Given the description of an element on the screen output the (x, y) to click on. 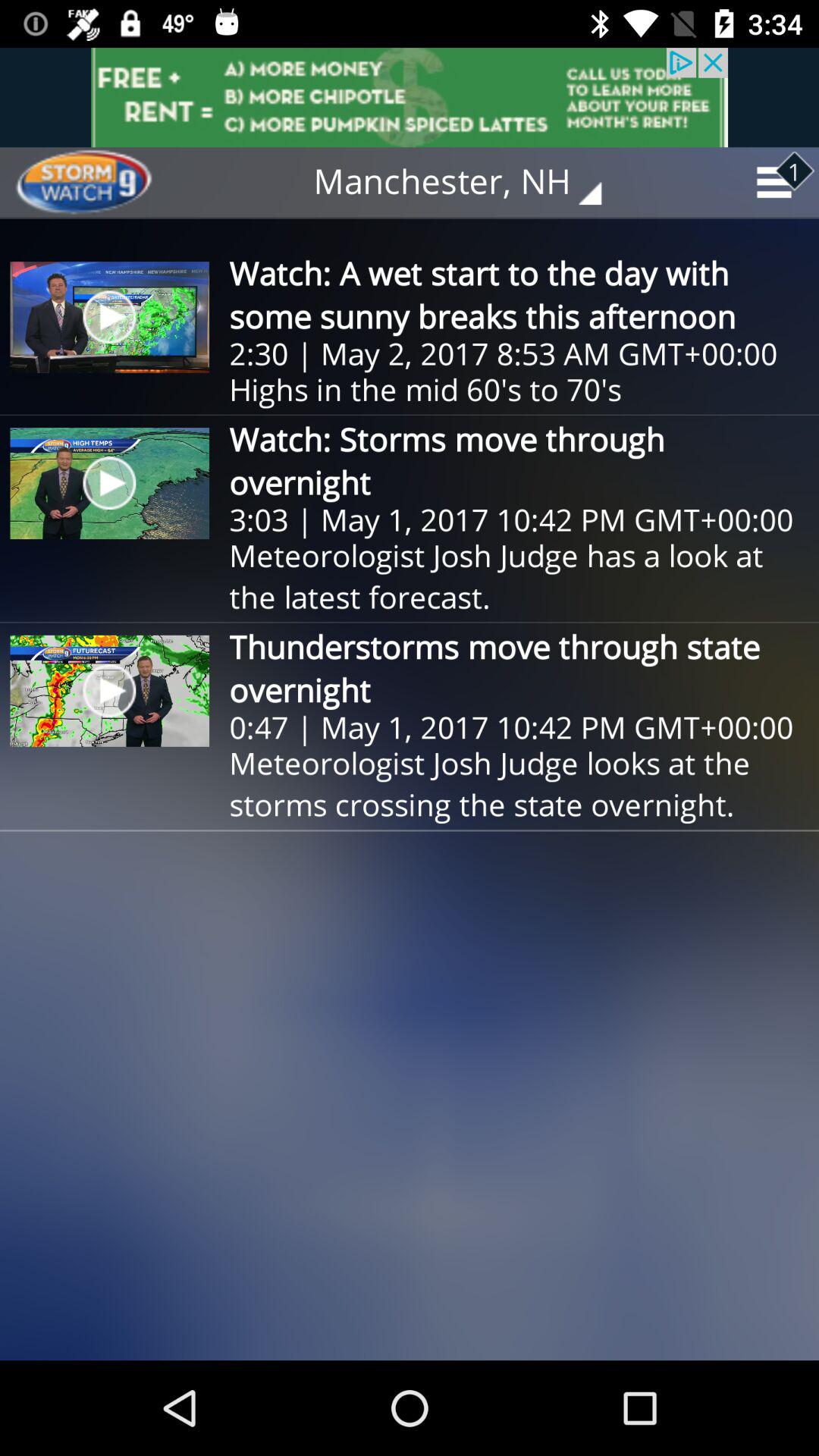
turn on the manchester, nh (468, 182)
